Given the description of an element on the screen output the (x, y) to click on. 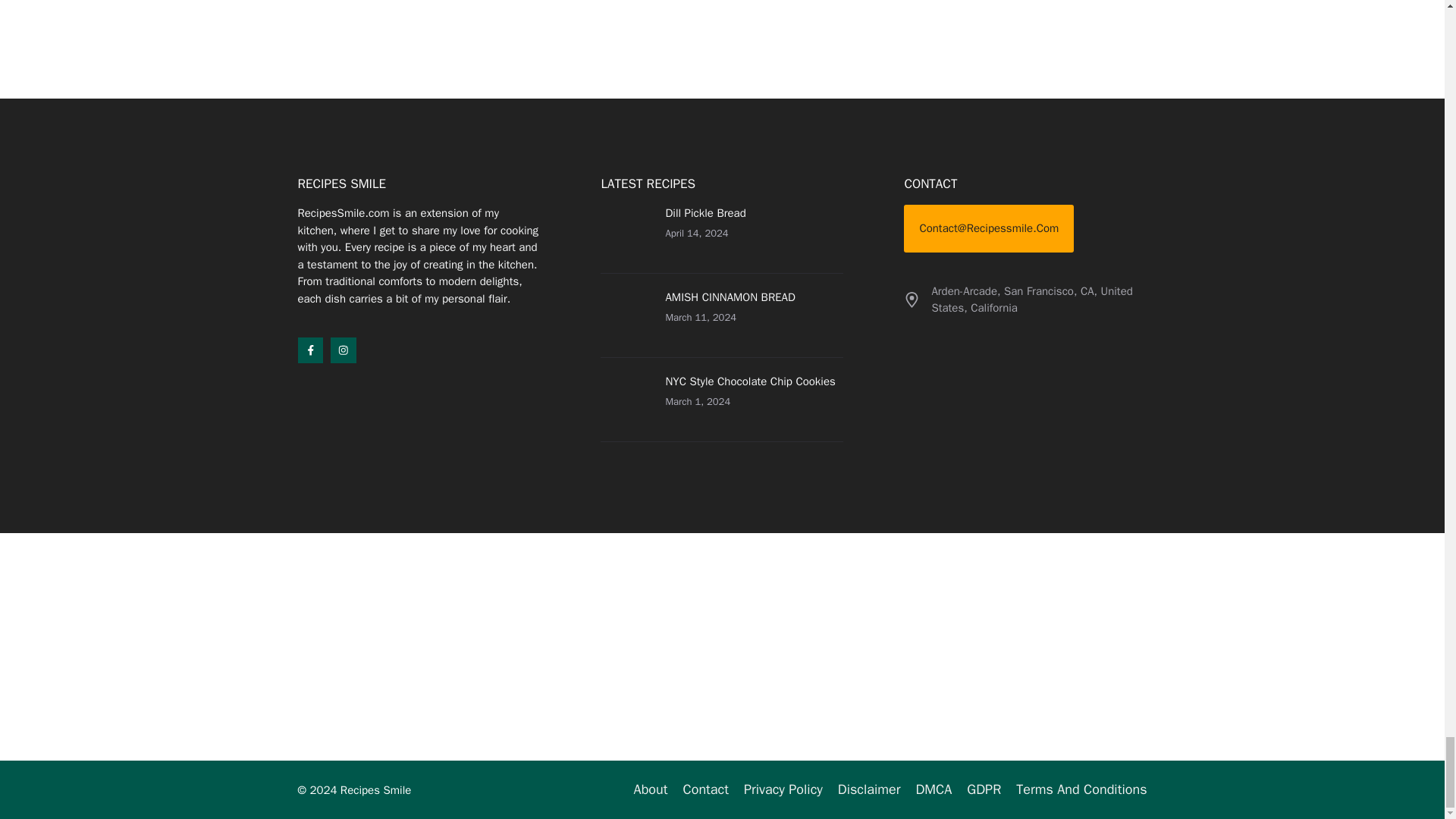
Dill Pickle Bread (705, 213)
AMISH CINNAMON BREAD (729, 296)
